Given the description of an element on the screen output the (x, y) to click on. 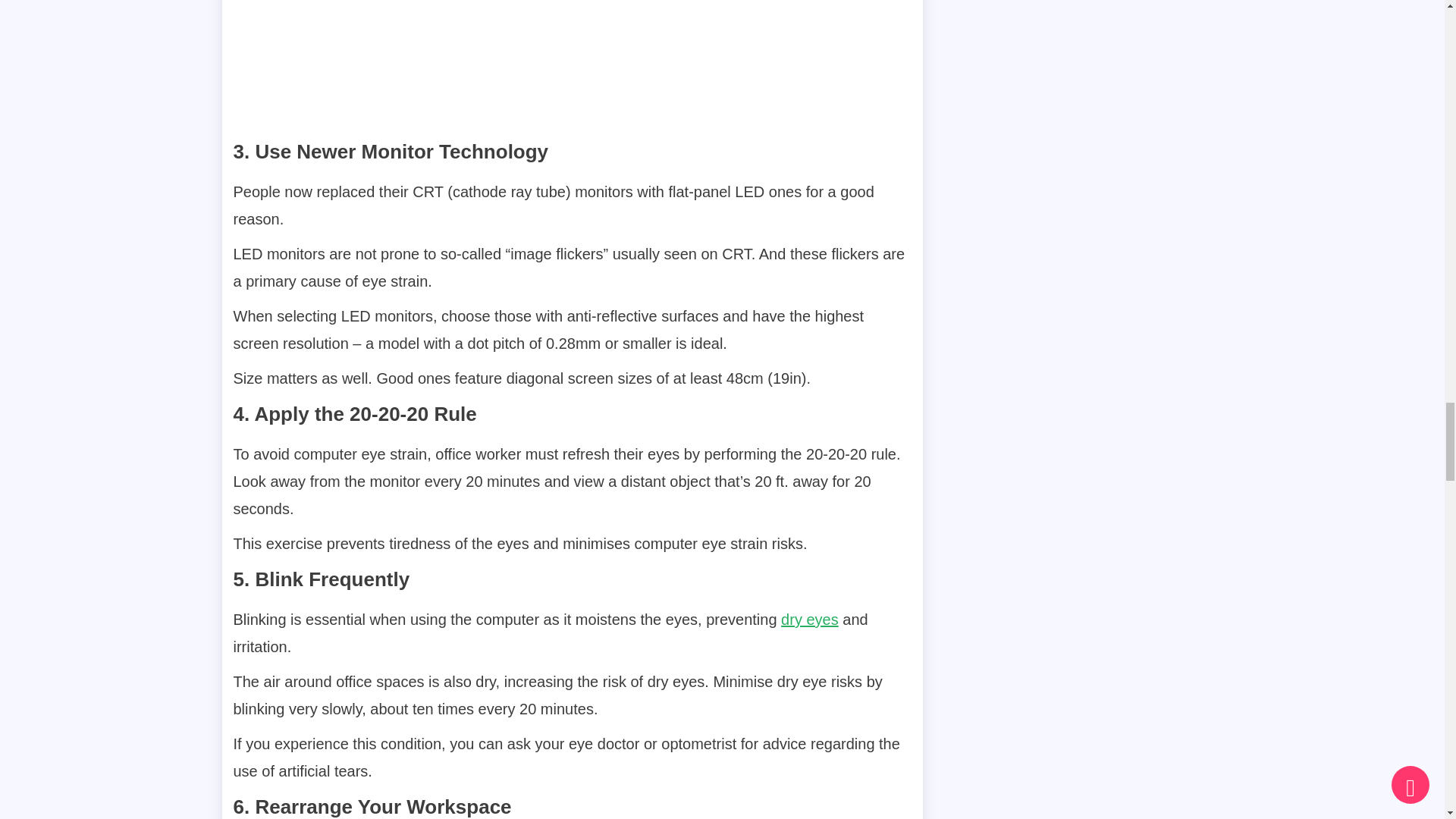
dry eyes (809, 619)
